Given the description of an element on the screen output the (x, y) to click on. 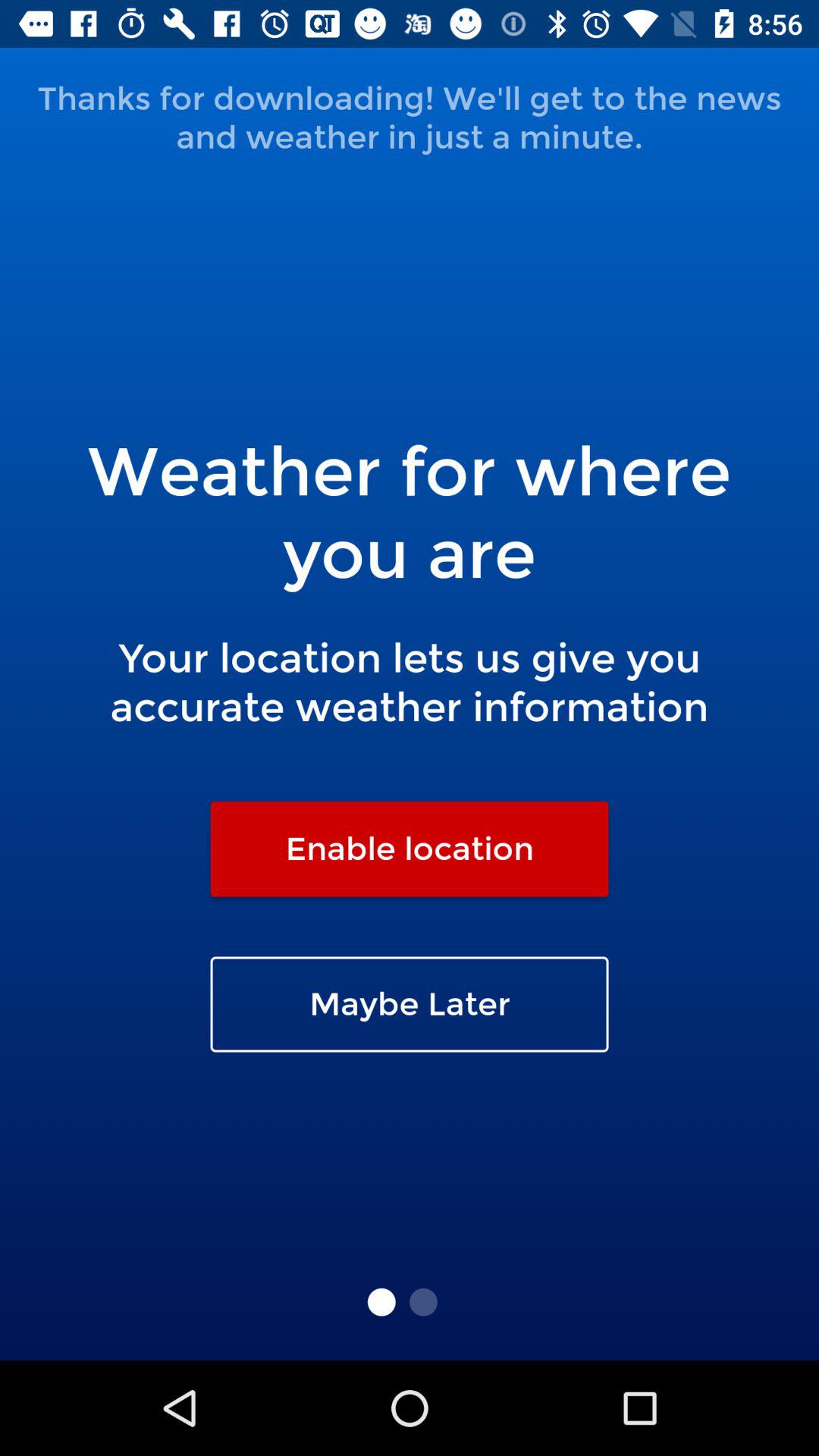
press the item below the your location lets item (409, 848)
